Given the description of an element on the screen output the (x, y) to click on. 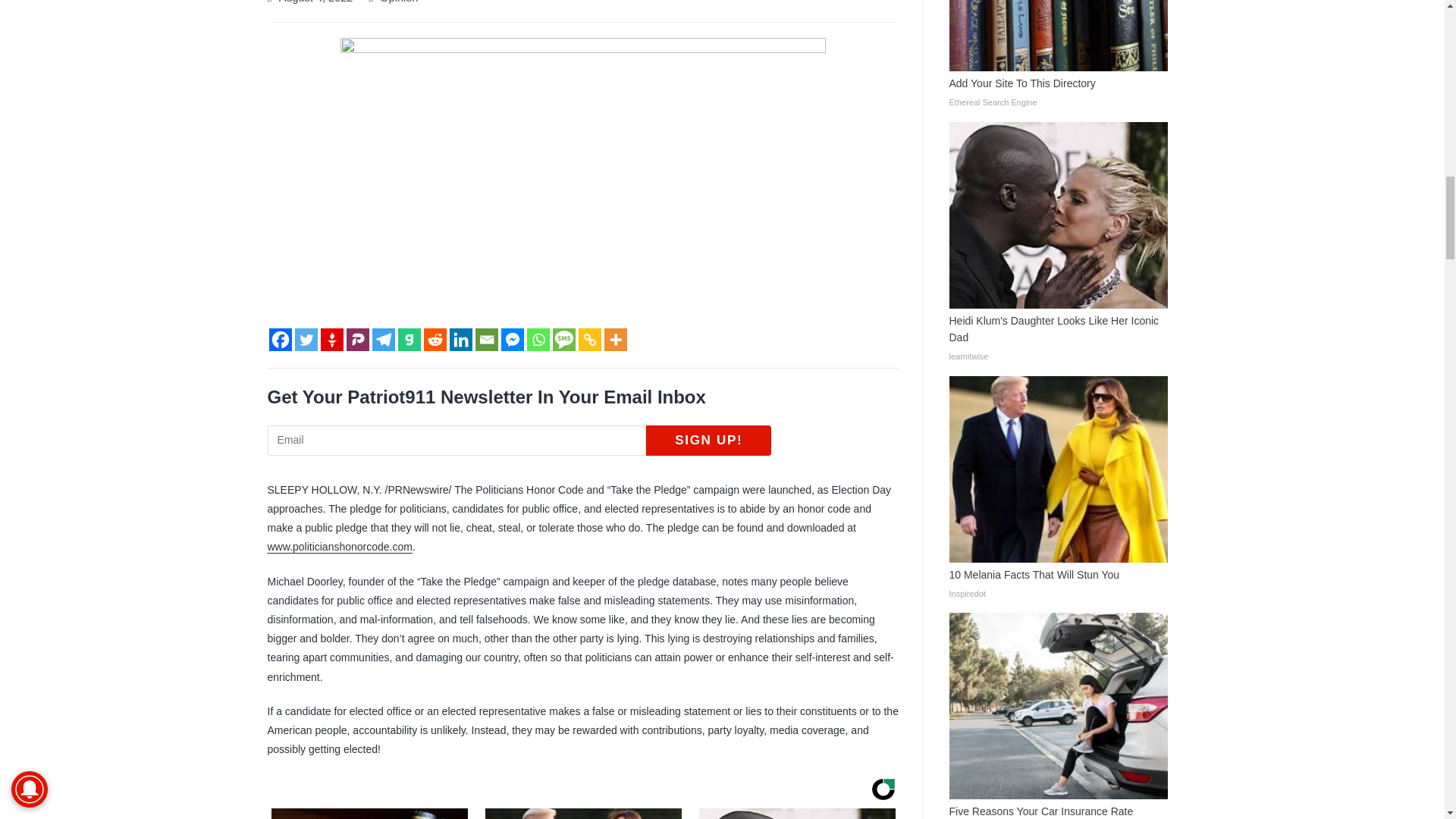
Twitter (305, 339)
More (615, 339)
Linkedin (459, 339)
Gettr (331, 339)
Whatsapp (536, 339)
Email (485, 339)
Telegram (382, 339)
Parler (357, 339)
Facebook (279, 339)
Reddit (434, 339)
SMS (563, 339)
Copy Link (588, 339)
Gab (408, 339)
